Given the description of an element on the screen output the (x, y) to click on. 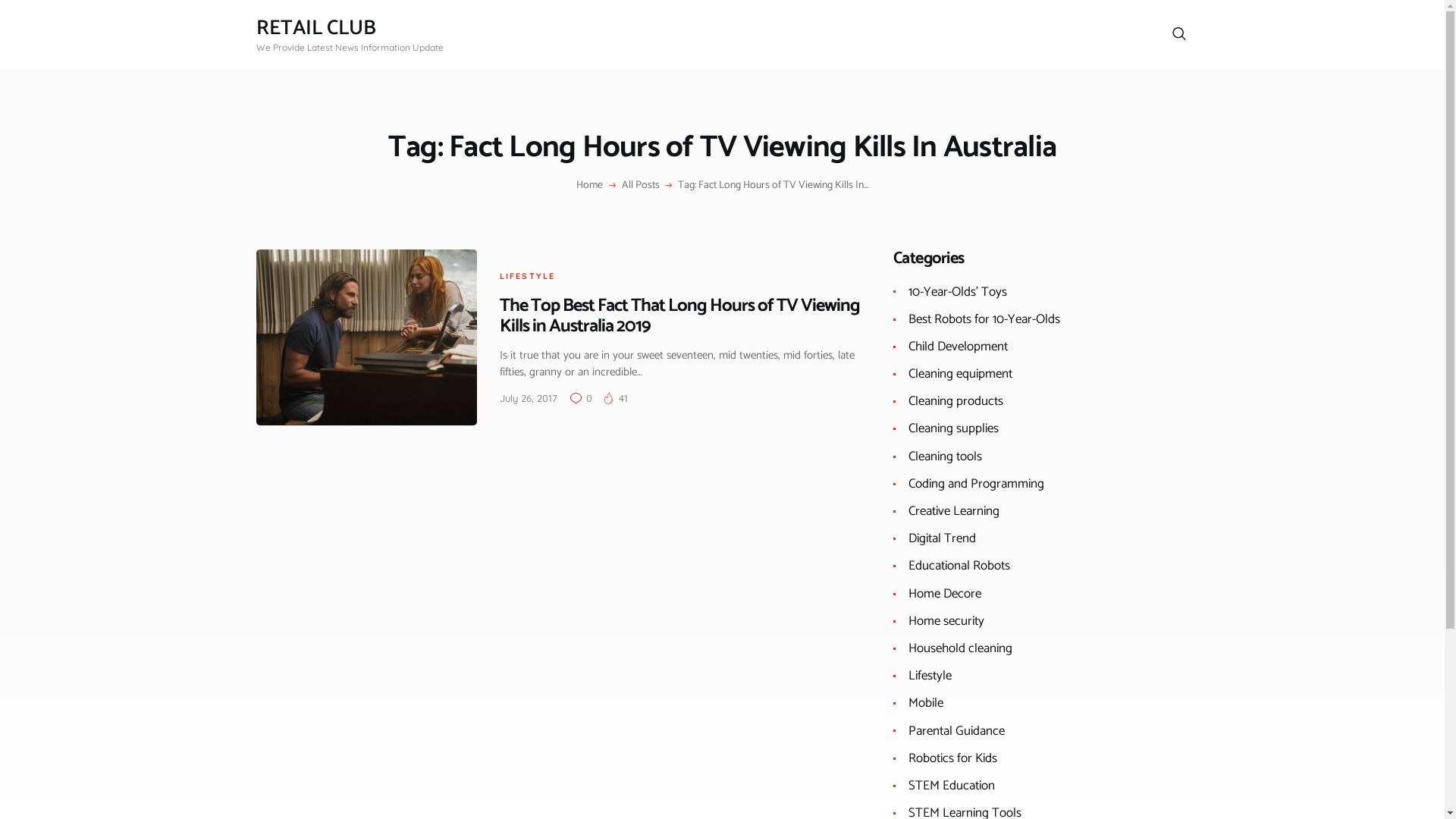
Mobile Element type: text (925, 702)
41 Element type: text (615, 398)
STEM Education Element type: text (951, 785)
Home security Element type: text (946, 620)
Lifestyle Element type: text (929, 675)
LIFESTYLE Element type: text (526, 275)
Cleaning products Element type: text (955, 400)
Creative Learning Element type: text (953, 510)
10-Year-Olds' Toys Element type: text (957, 291)
Robotics for Kids Element type: text (952, 757)
Home Decore Element type: text (944, 593)
All Posts Element type: text (640, 185)
Educational Robots Element type: text (959, 565)
Cleaning tools Element type: text (945, 456)
RETAIL CLUB
We Provide Latest News Information Update Element type: text (349, 34)
Coding and Programming Element type: text (976, 483)
Child Development Element type: text (957, 346)
Digital Trend Element type: text (941, 538)
Best Robots for 10-Year-Olds Element type: text (984, 318)
Cleaning supplies Element type: text (953, 428)
0 Element type: text (585, 398)
Cleaning equipment Element type: text (960, 373)
Home Element type: text (589, 185)
July 26, 2017 Element type: text (527, 398)
Parental Guidance Element type: text (956, 730)
Household cleaning Element type: text (960, 647)
